Given the description of an element on the screen output the (x, y) to click on. 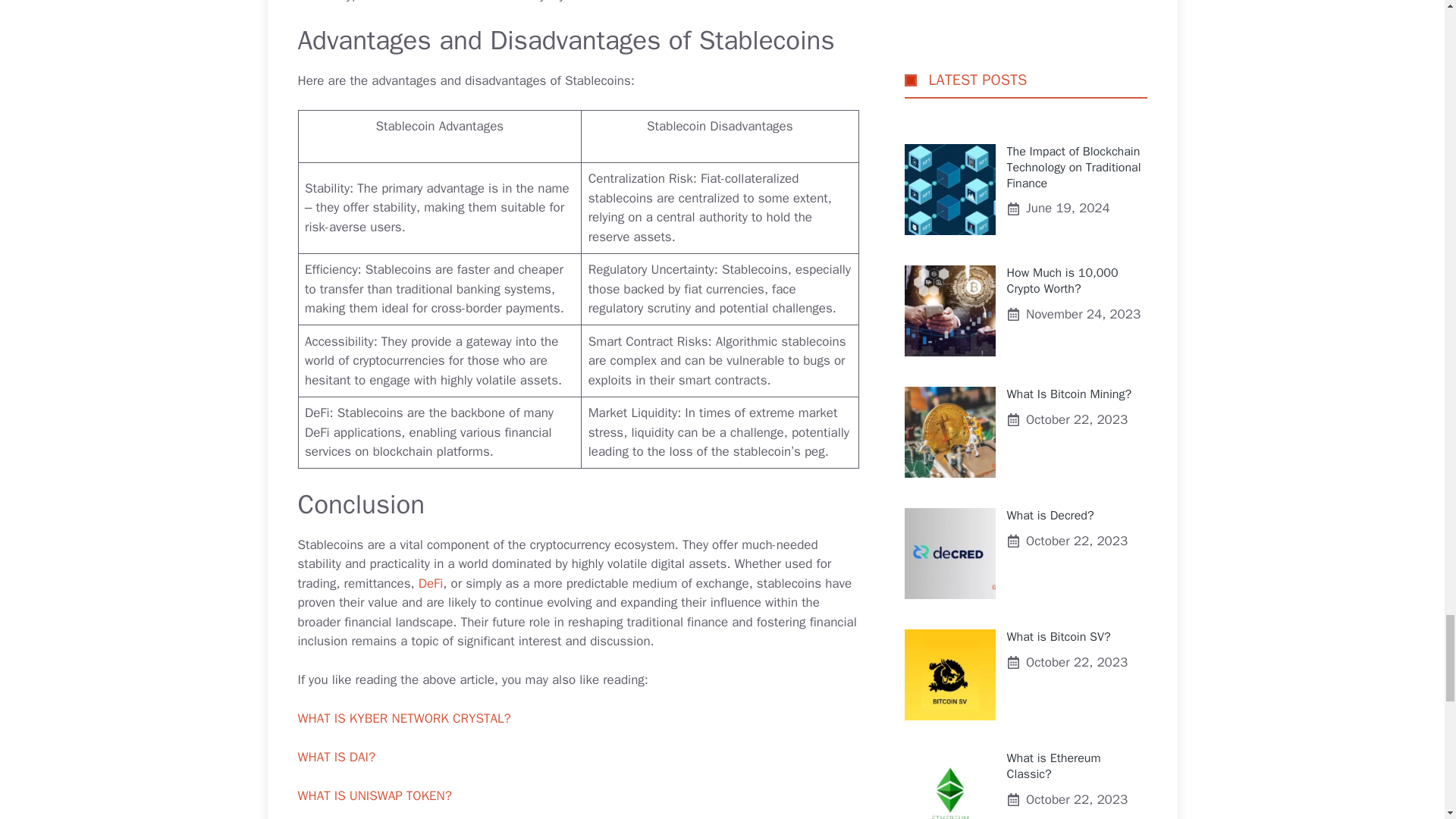
DeFi (431, 583)
WHAT IS KYBER NETWORK CRYSTAL? (404, 718)
WHAT IS UNISWAP TOKEN? (374, 795)
WHAT IS DAI? (336, 756)
